Given the description of an element on the screen output the (x, y) to click on. 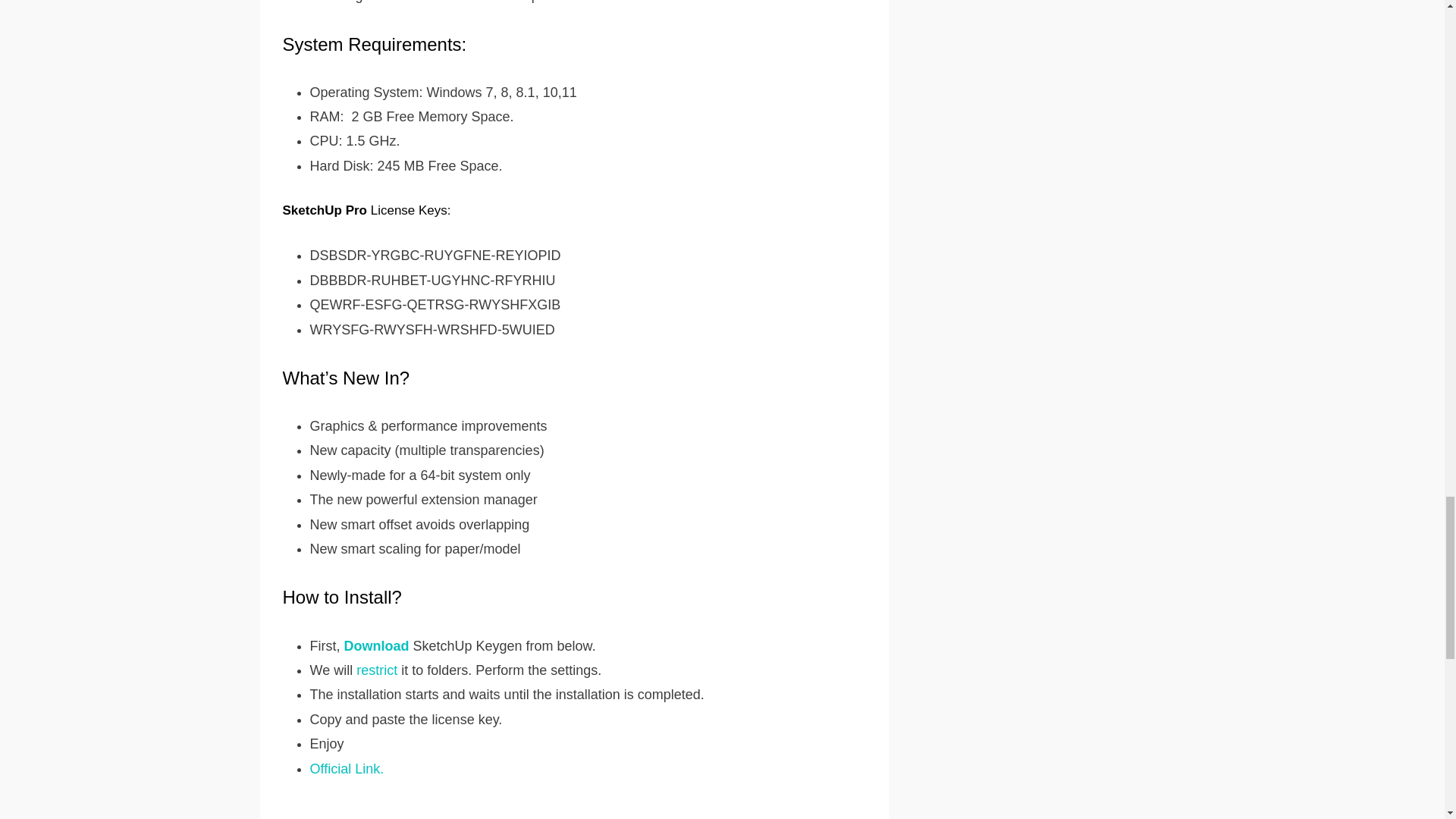
Official Link. (346, 768)
Download (375, 645)
restrict (376, 670)
